Given the description of an element on the screen output the (x, y) to click on. 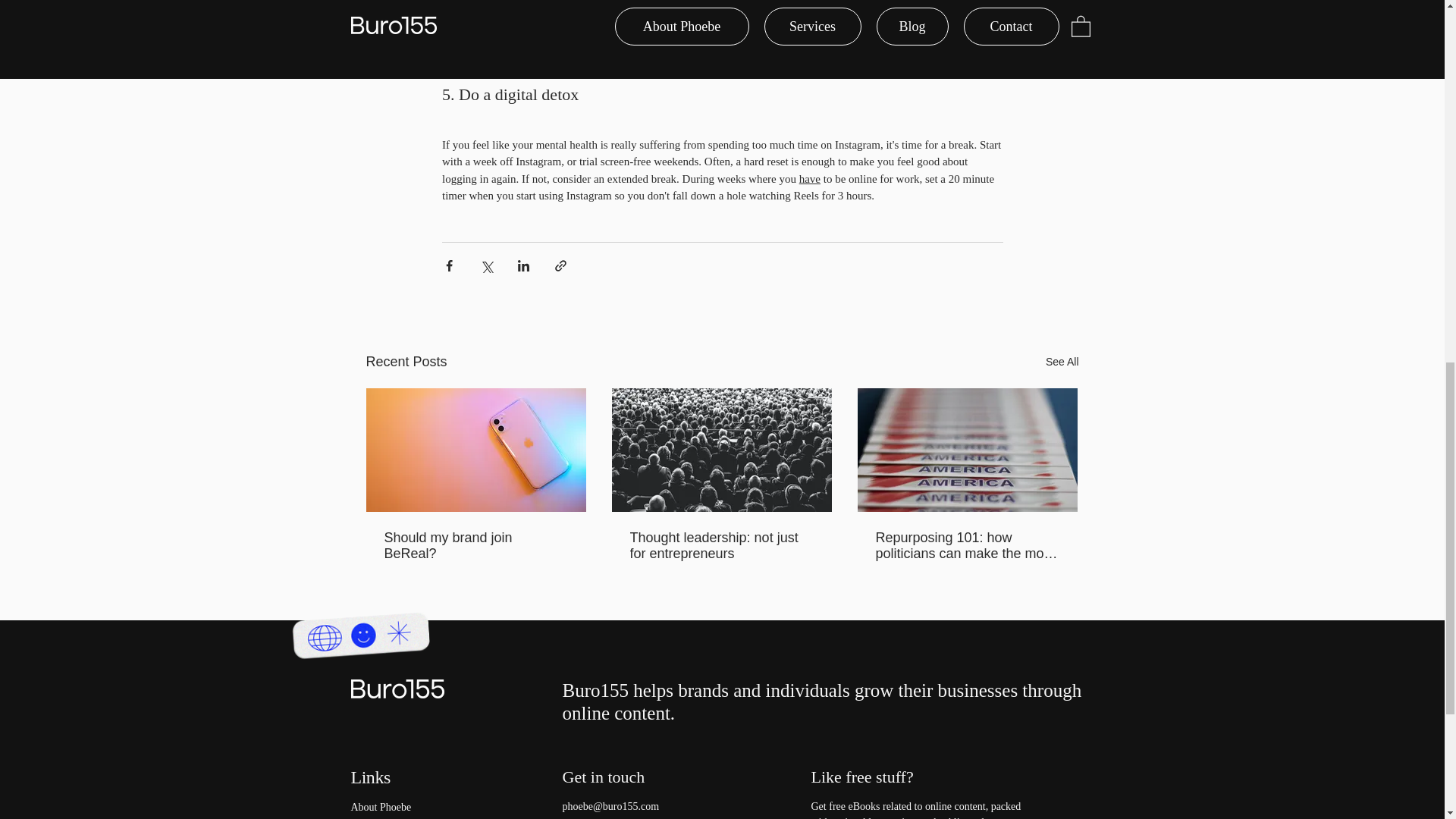
Services (413, 817)
Should my brand join BeReal? (475, 545)
See All (1061, 362)
Thought leadership: not just for entrepreneurs (720, 545)
About Phoebe (413, 806)
